Given the description of an element on the screen output the (x, y) to click on. 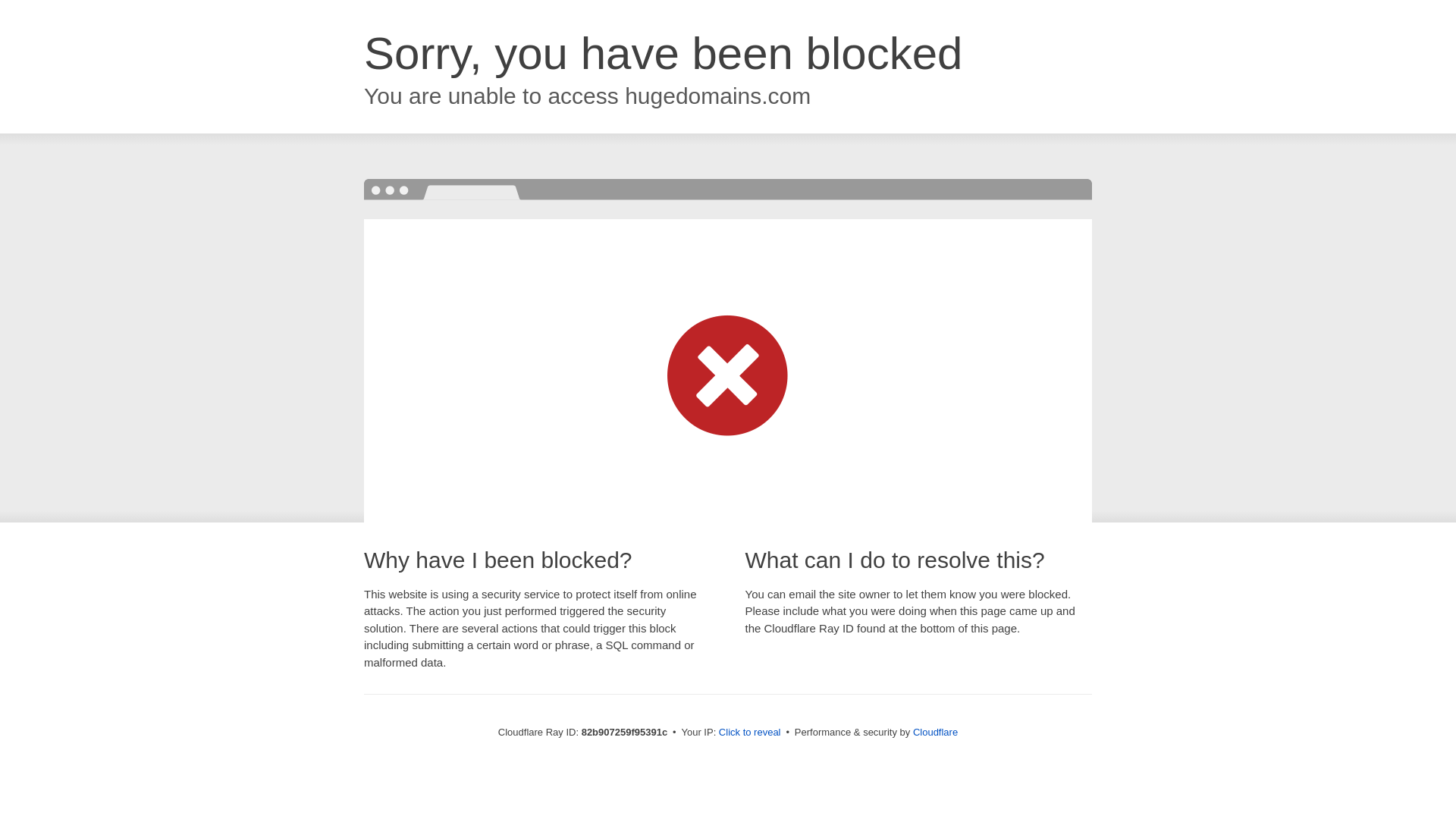
Cloudflare Element type: text (935, 731)
Click to reveal Element type: text (749, 732)
